Given the description of an element on the screen output the (x, y) to click on. 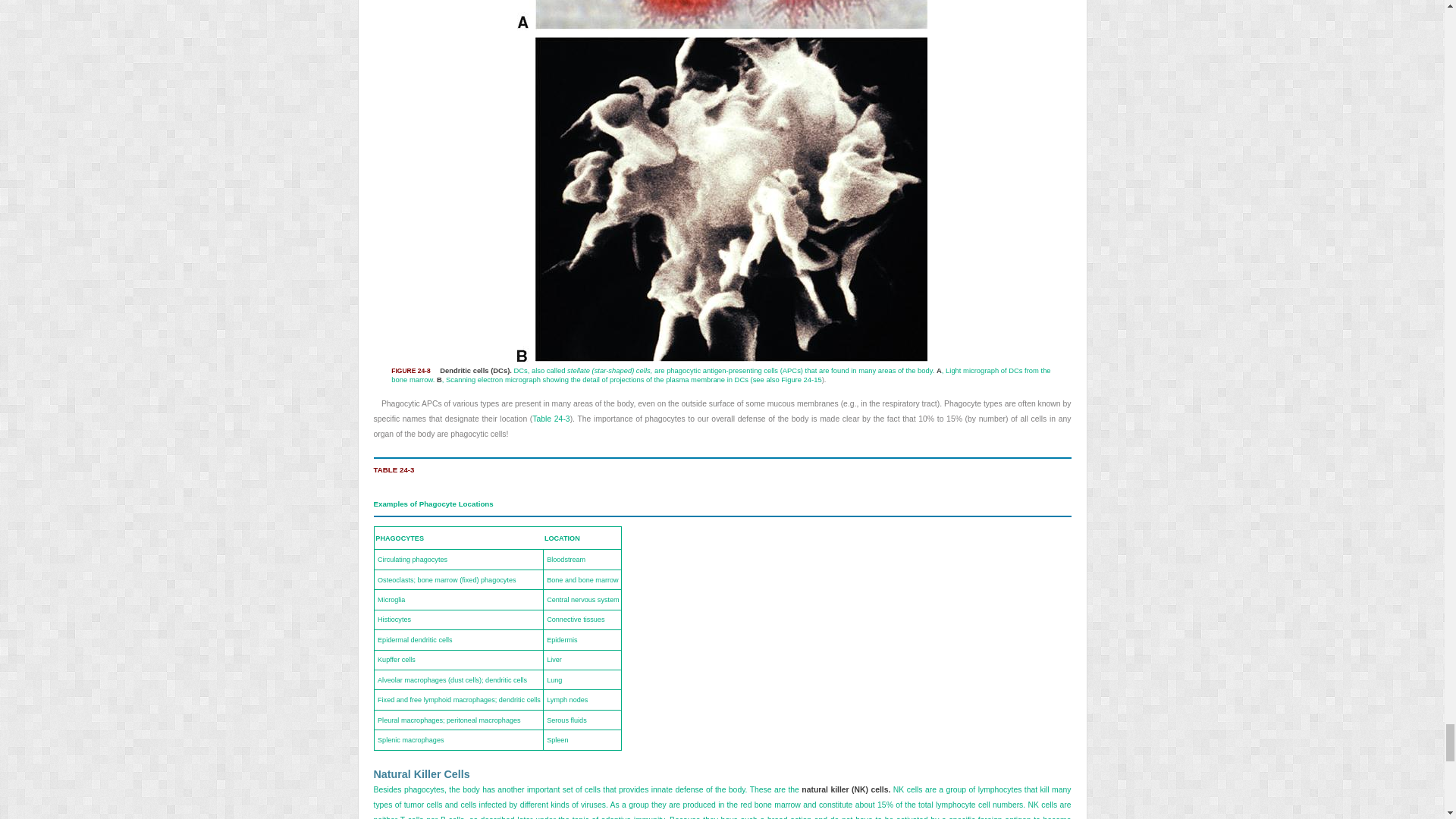
753 (721, 426)
